Given the description of an element on the screen output the (x, y) to click on. 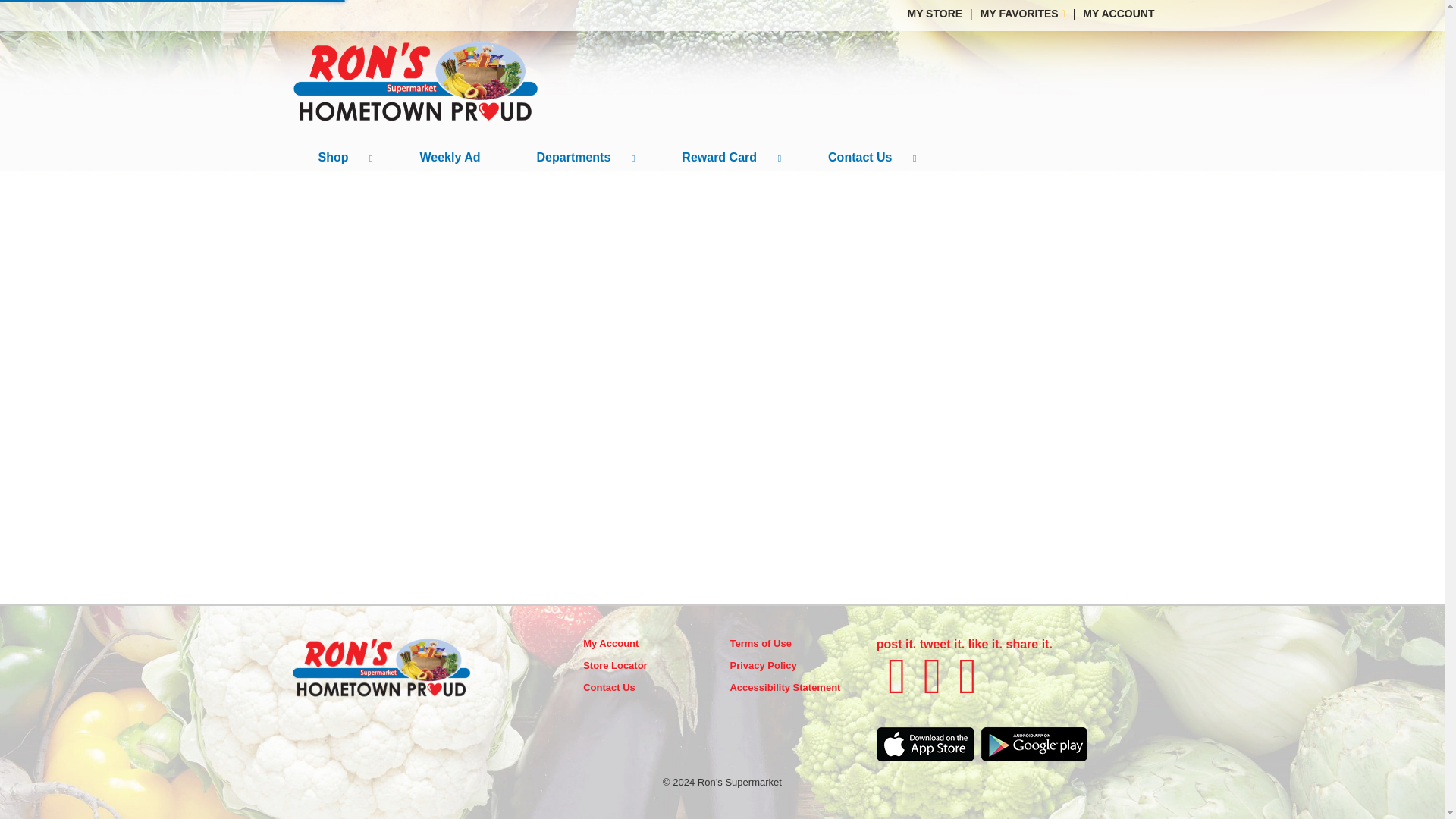
Contact Us (608, 686)
Weekly Ad (449, 157)
facebook (896, 675)
MY FAVORITES  (1022, 13)
Accessibility Statement (784, 686)
Terms of Use (759, 643)
My Account (611, 643)
Reward Card (726, 157)
Contact Us (866, 157)
Store Locator (615, 665)
instagram (967, 675)
Privacy Policy (762, 665)
Shop (340, 157)
Departments (580, 157)
MY ACCOUNT (1118, 13)
